Given the description of an element on the screen output the (x, y) to click on. 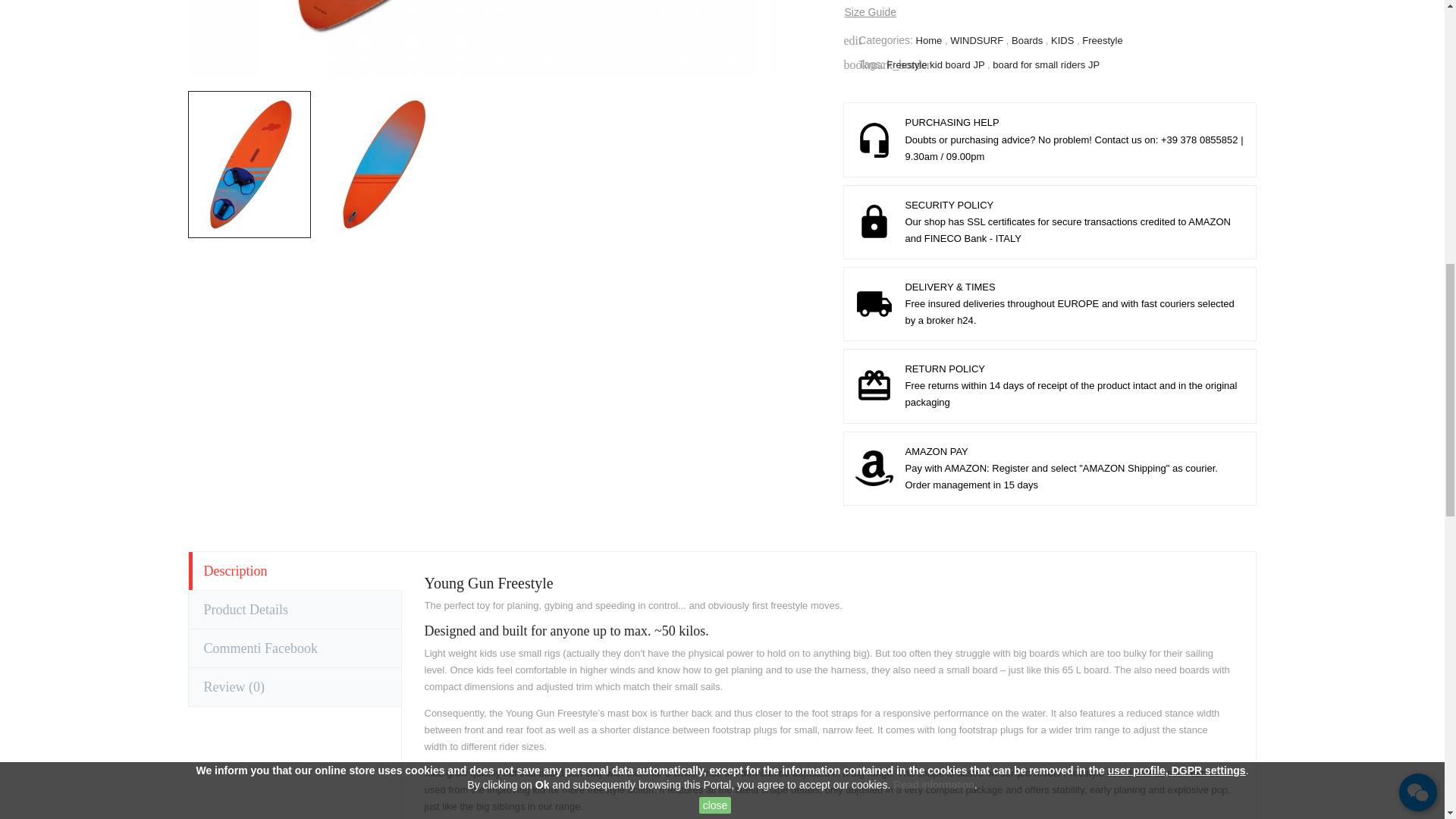
Boards (1028, 40)
 board for small riders JP (1045, 64)
Home (929, 40)
KIDS (1064, 40)
Freestyle kid board JP (936, 64)
Freestyle (1101, 40)
WINDSURF (978, 40)
